Given the description of an element on the screen output the (x, y) to click on. 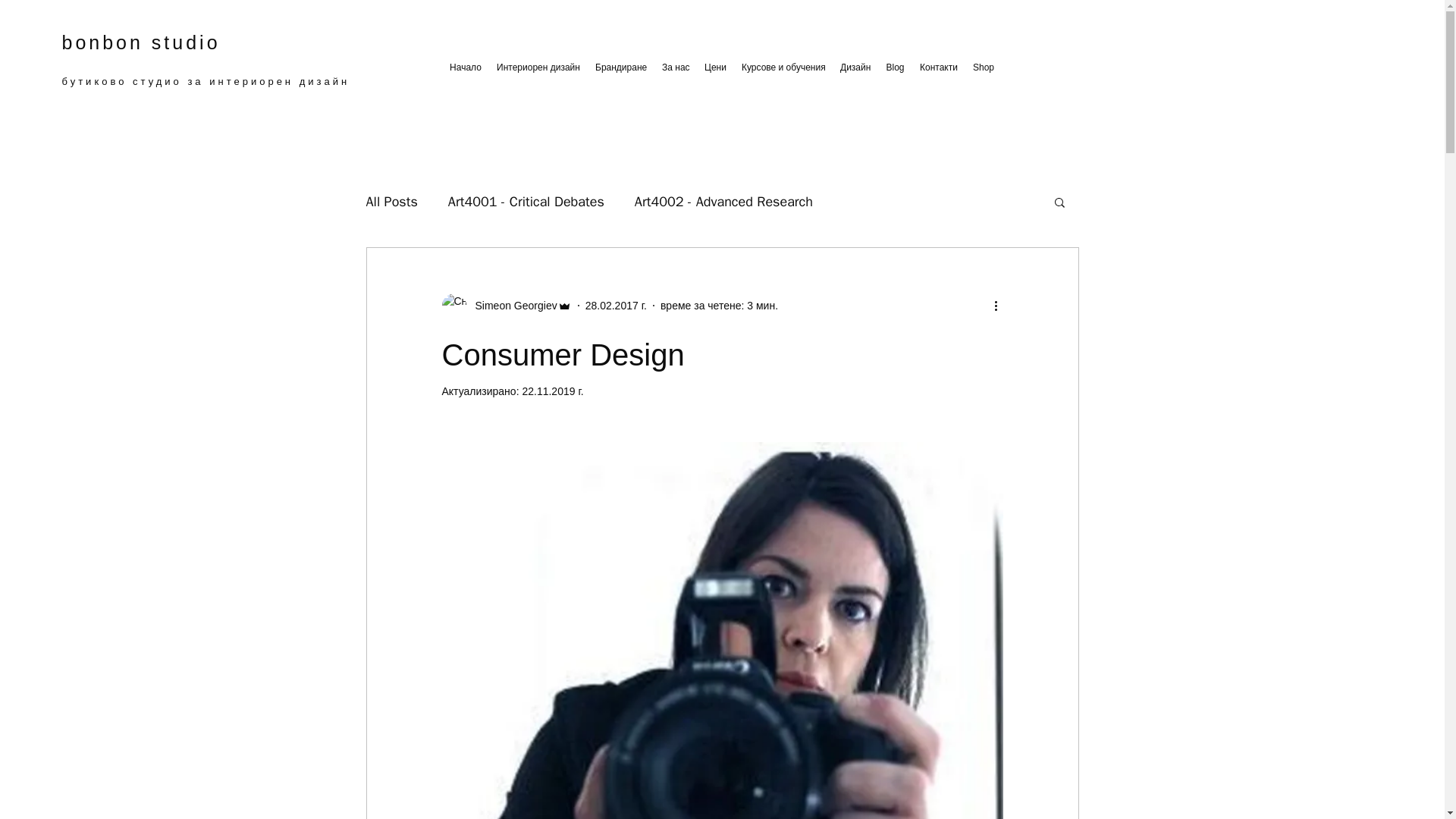
Simeon Georgiev (510, 304)
Art4001 - Critical Debates (526, 201)
All Posts (390, 201)
Simeon Georgiev (505, 305)
Shop (983, 67)
Blog (894, 67)
Art4002 - Advanced Research (723, 201)
